Given the description of an element on the screen output the (x, y) to click on. 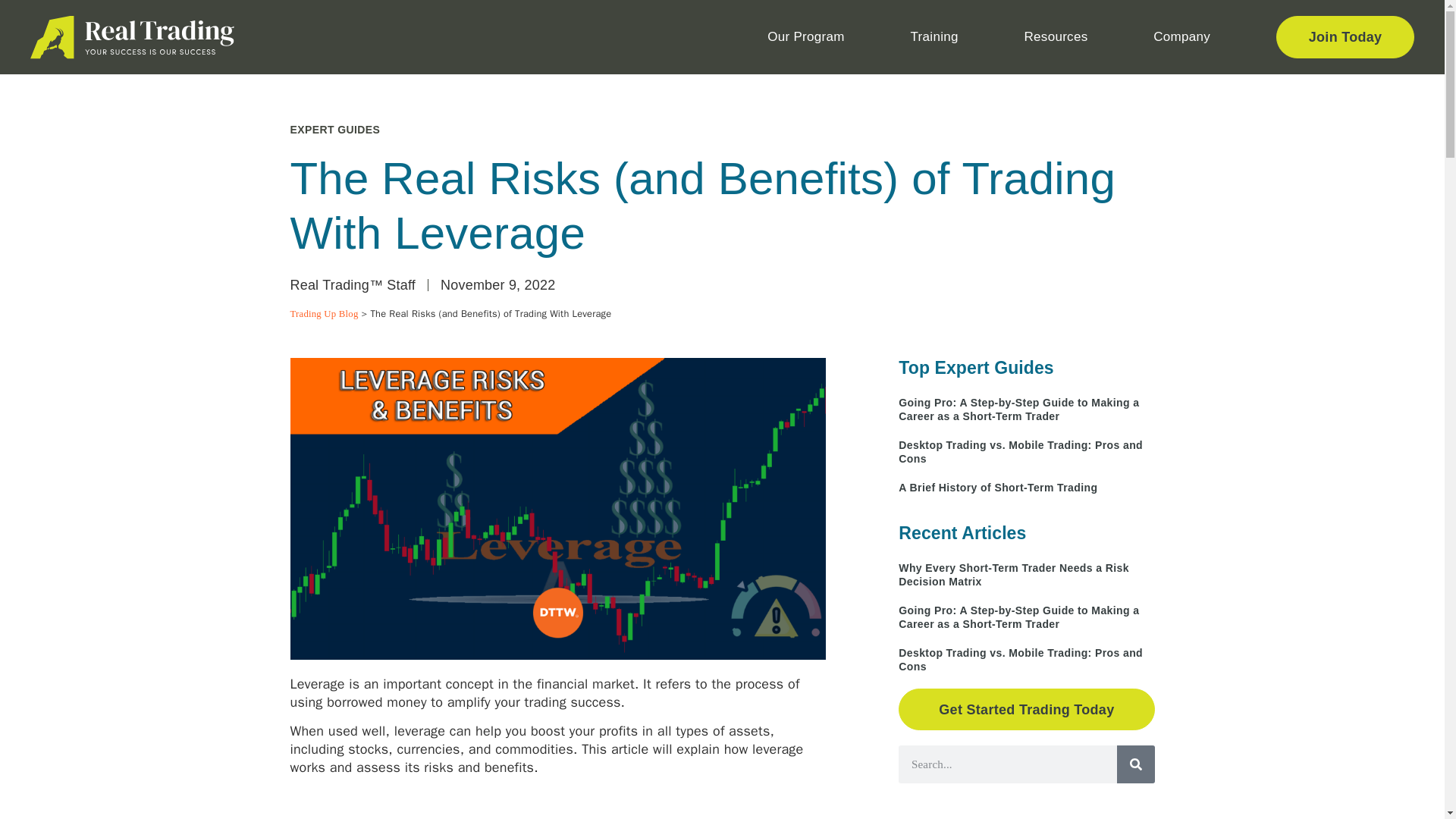
Our Program (809, 37)
Resources (1060, 37)
Training (938, 37)
Company (1185, 37)
Join Today (1344, 36)
